Given the description of an element on the screen output the (x, y) to click on. 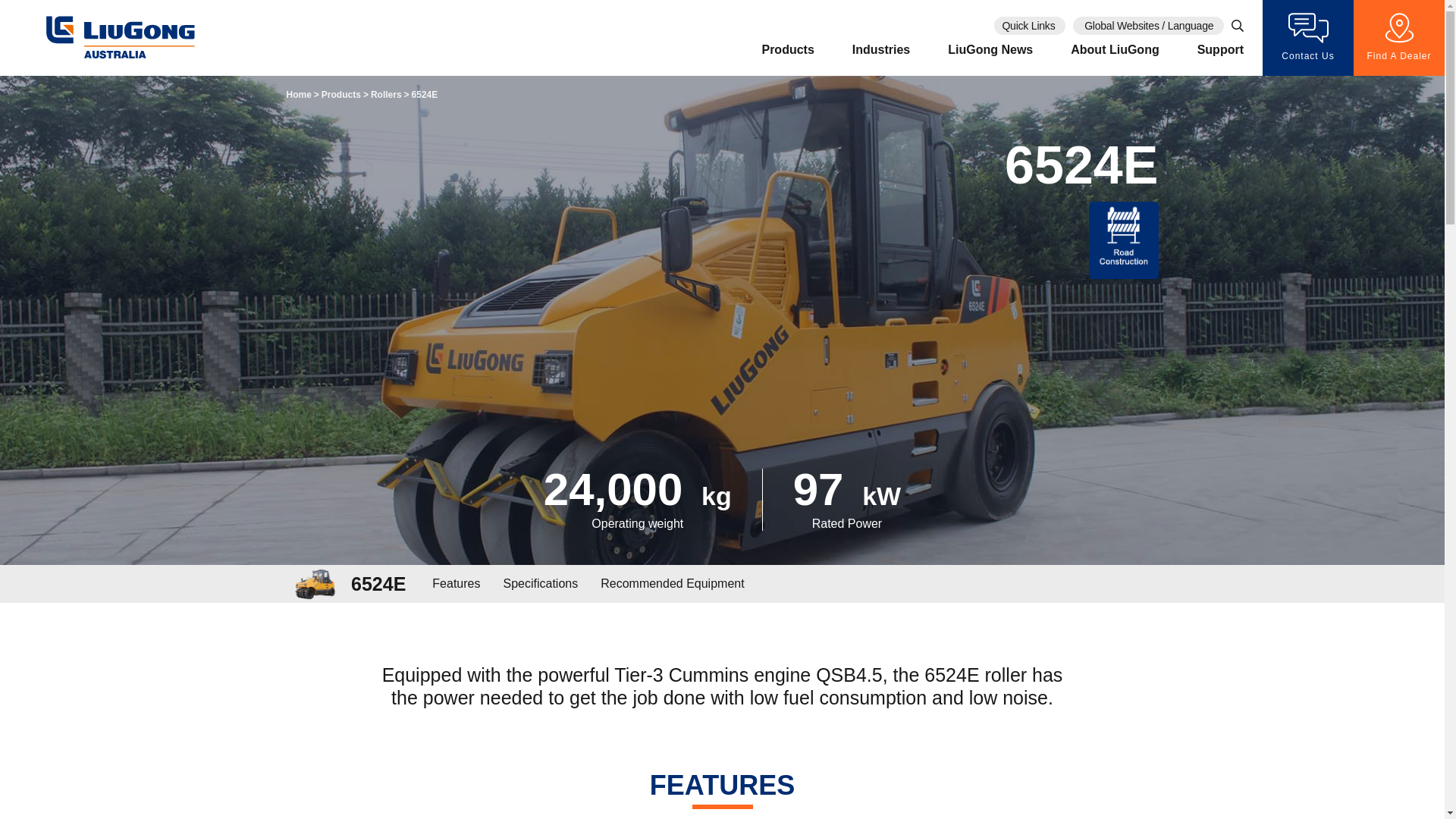
Contact Us Element type: text (1307, 37)
LiuGong News Element type: text (989, 60)
Road Construction Element type: hover (1123, 240)
Support Element type: text (1220, 60)
Find A Dealer Element type: text (1398, 37)
Quick Links Element type: text (1029, 25)
About LiuGong Element type: text (1114, 60)
Global Websites / Language Element type: text (1148, 25)
Rollers Element type: text (385, 94)
Home Element type: text (298, 94)
Products Element type: text (340, 94)
Products Element type: text (787, 60)
Industries Element type: text (880, 60)
